Given the description of an element on the screen output the (x, y) to click on. 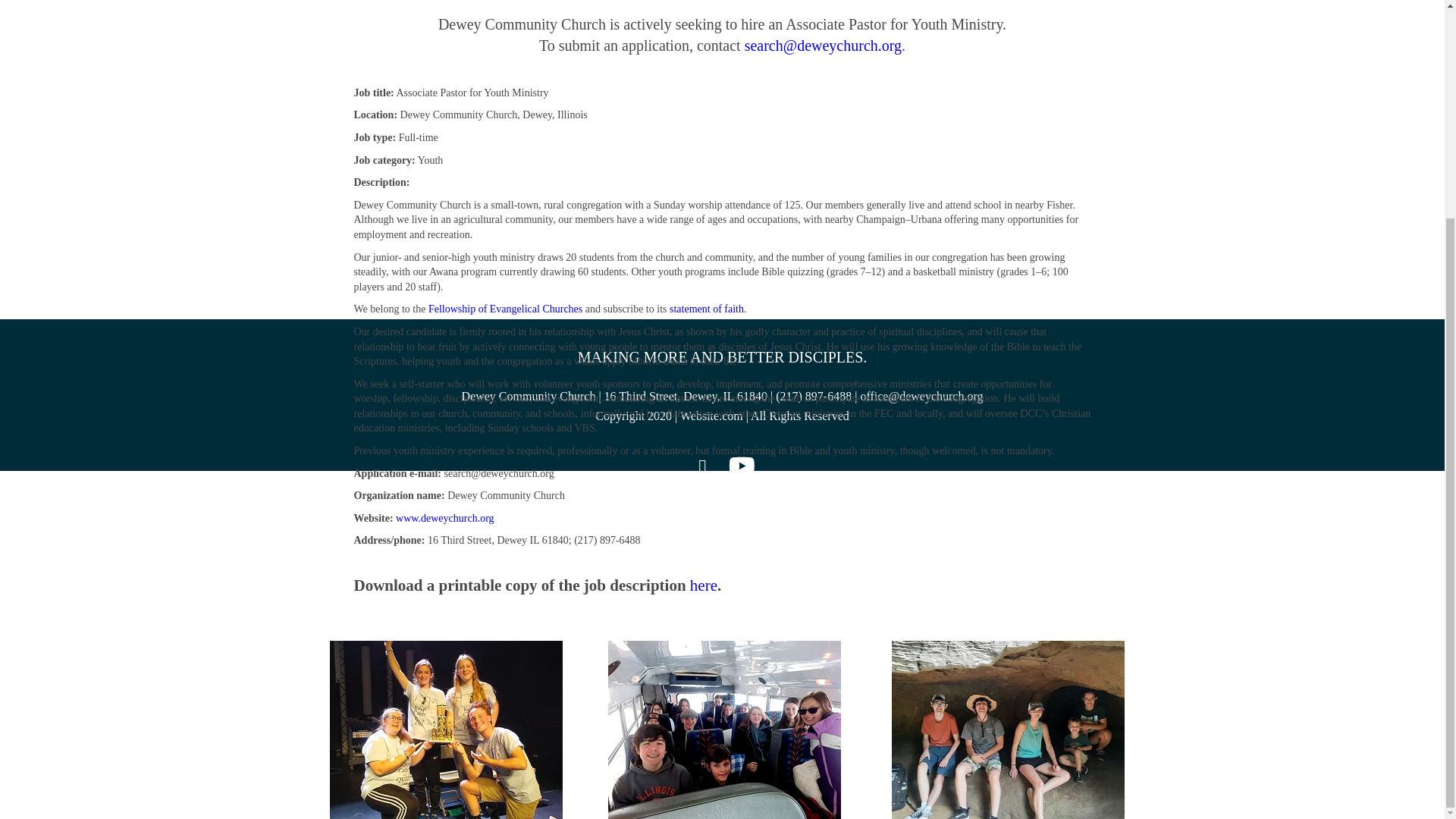
www.deweychurch.org (444, 518)
statement of faith (706, 308)
here (703, 585)
the Fellowship of Evangelical Churches (497, 308)
